Given the description of an element on the screen output the (x, y) to click on. 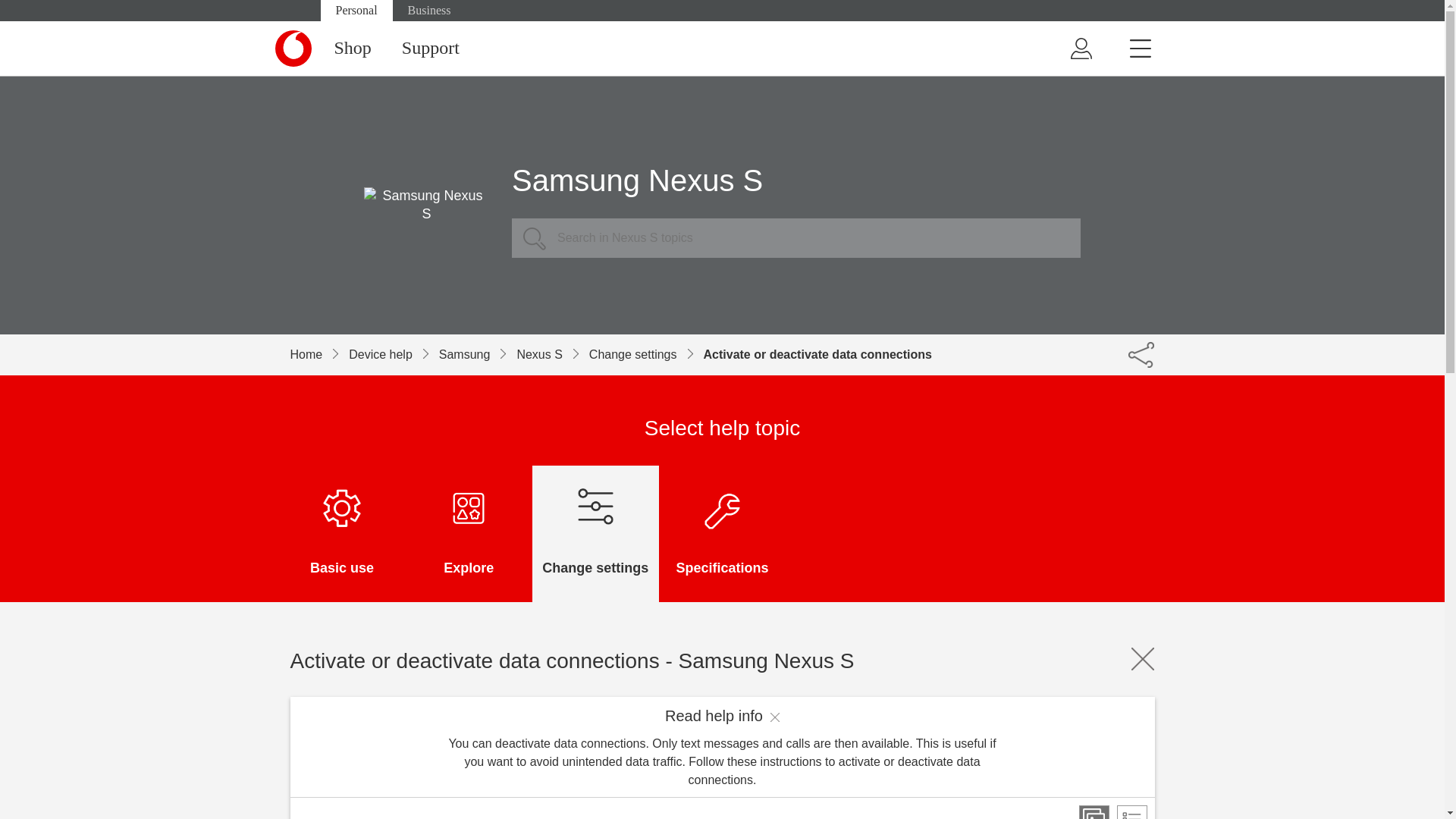
Home (319, 354)
Samsung (477, 354)
Support (430, 48)
Change settings (646, 354)
Shop (351, 48)
Device help (394, 354)
Activate or deactivate data connections (817, 354)
Business (429, 10)
Personal (355, 10)
My Vodafone (1079, 48)
Nexus S (552, 354)
Menu (1139, 48)
